Given the description of an element on the screen output the (x, y) to click on. 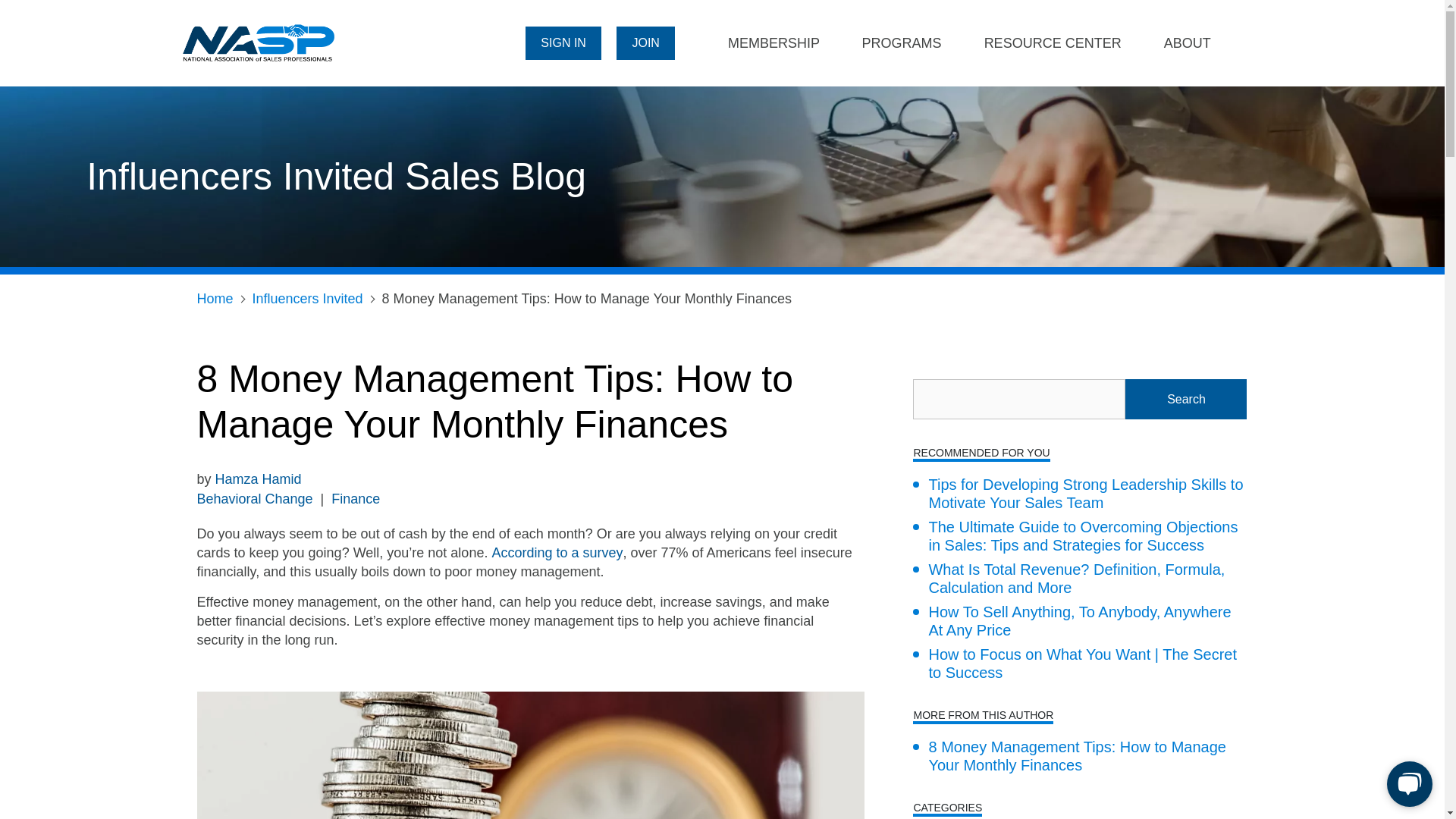
Behavioral Change (254, 498)
Finance (355, 498)
Home (214, 299)
Influencers Invited (306, 299)
JOIN (645, 42)
Search text (1018, 399)
Hamza Hamid (258, 478)
According to a survey (557, 552)
Nasp logo (258, 41)
SIGN IN (563, 42)
